Given the description of an element on the screen output the (x, y) to click on. 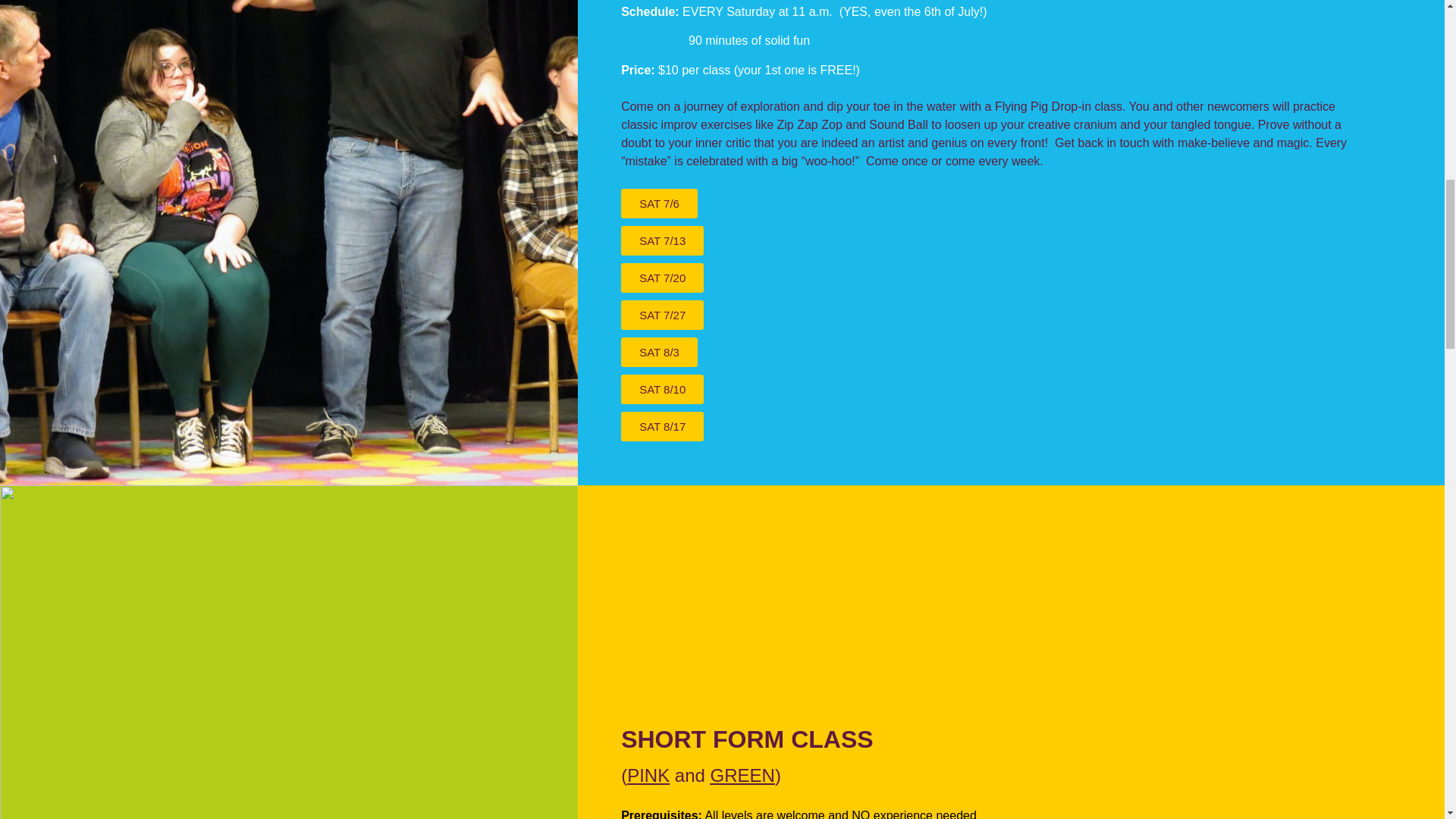
GREEN (742, 774)
PINK (648, 774)
Page 4 (989, 812)
